Given the description of an element on the screen output the (x, y) to click on. 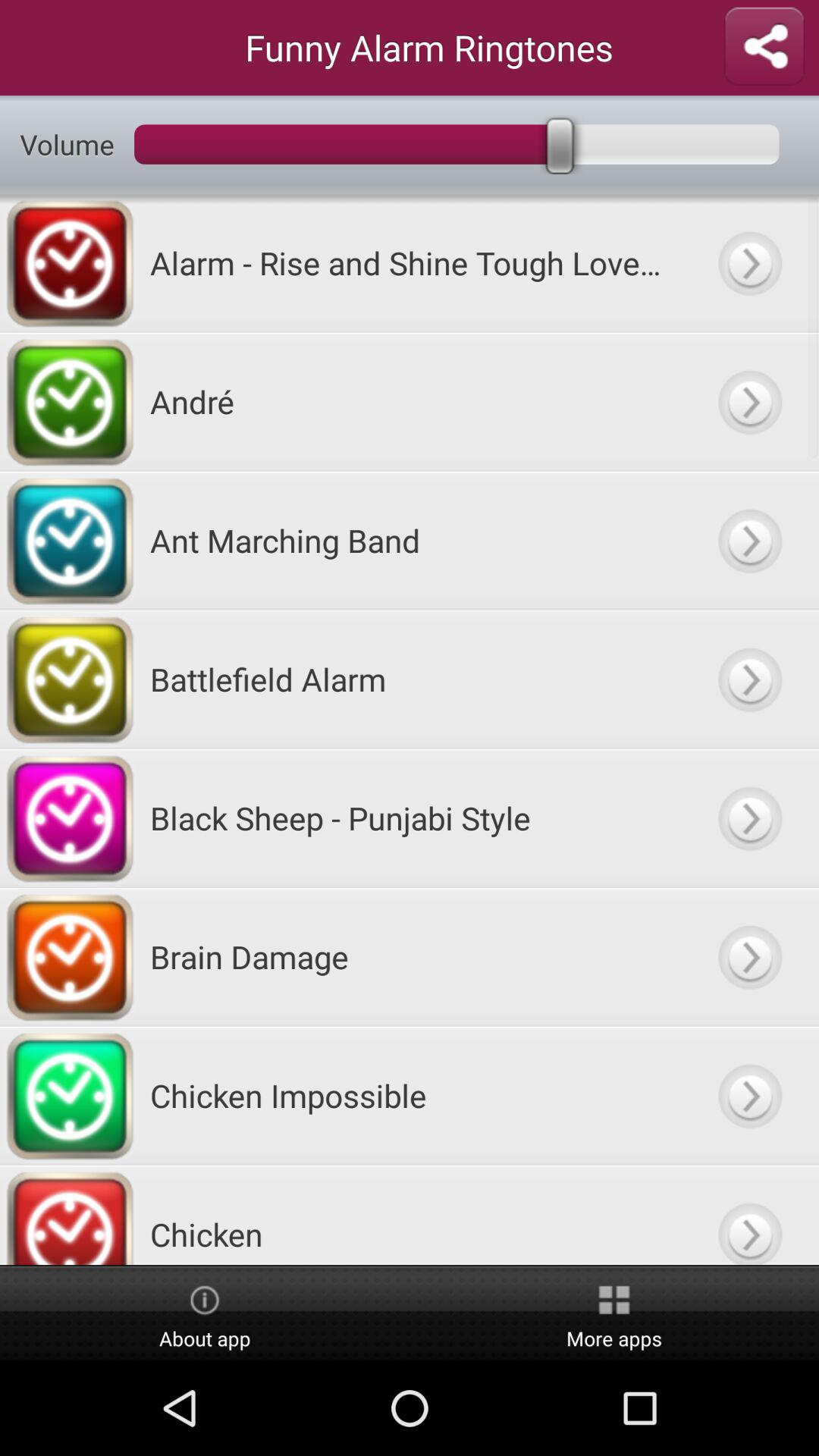
go to next (749, 1095)
